Given the description of an element on the screen output the (x, y) to click on. 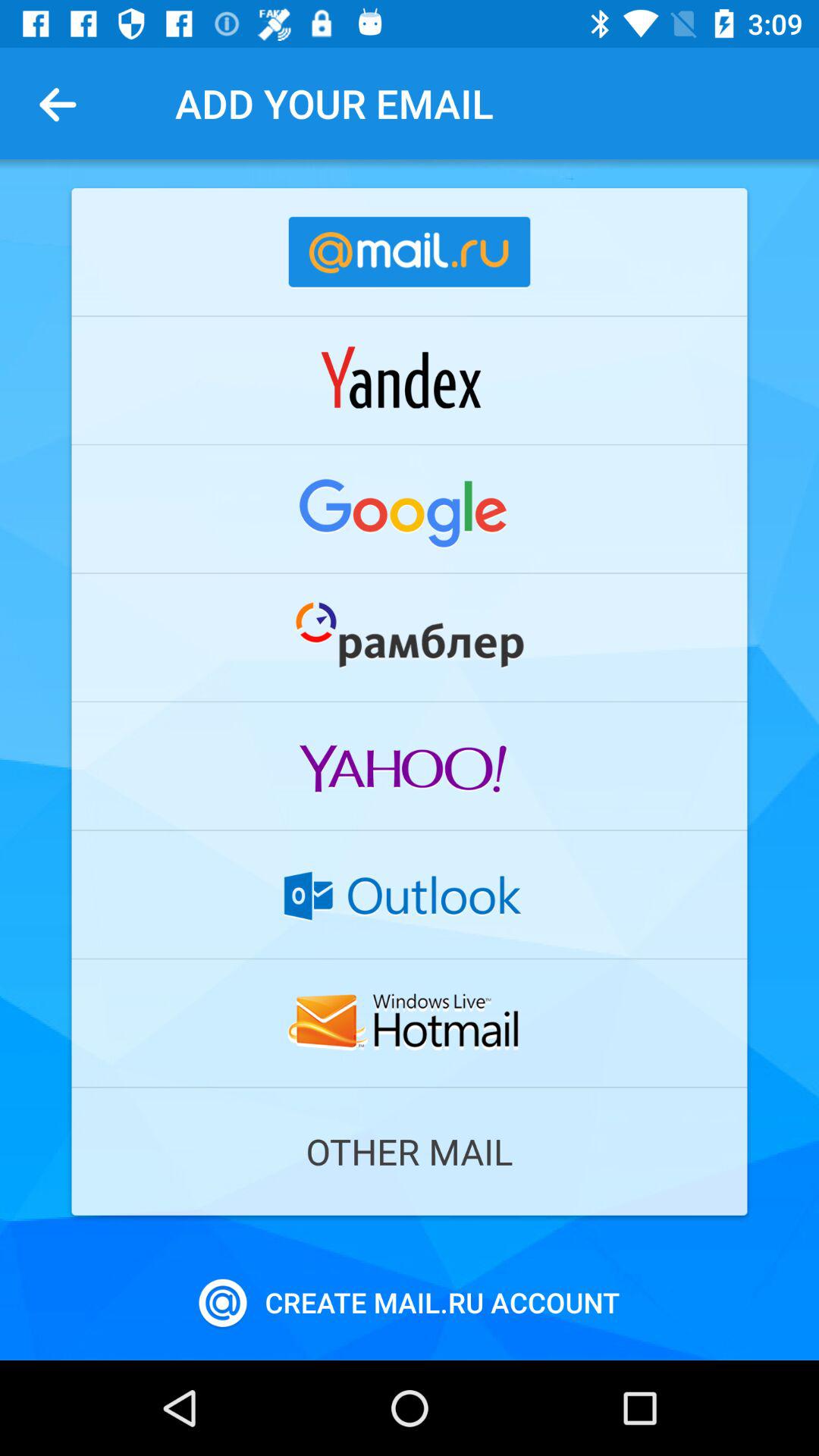
go to app (409, 637)
